Given the description of an element on the screen output the (x, y) to click on. 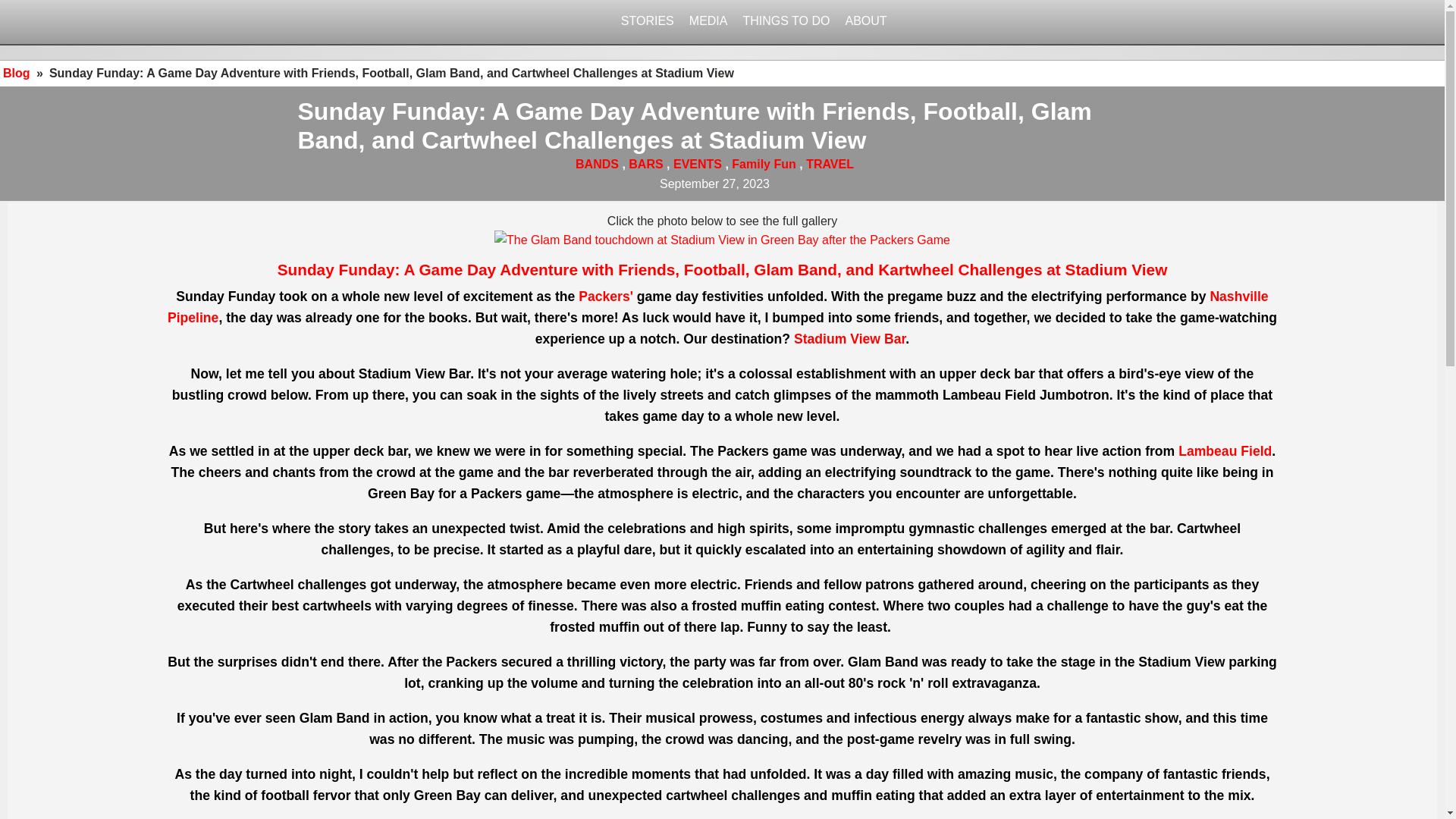
Nashville Pipeline (717, 307)
EVENTS (697, 164)
Blog (16, 72)
Family Fun (763, 164)
TRAVEL (829, 164)
ABOUT (857, 21)
Breadcrumb link to Blog (16, 72)
Lambeau Field (1224, 450)
Packers' (605, 296)
